Given the description of an element on the screen output the (x, y) to click on. 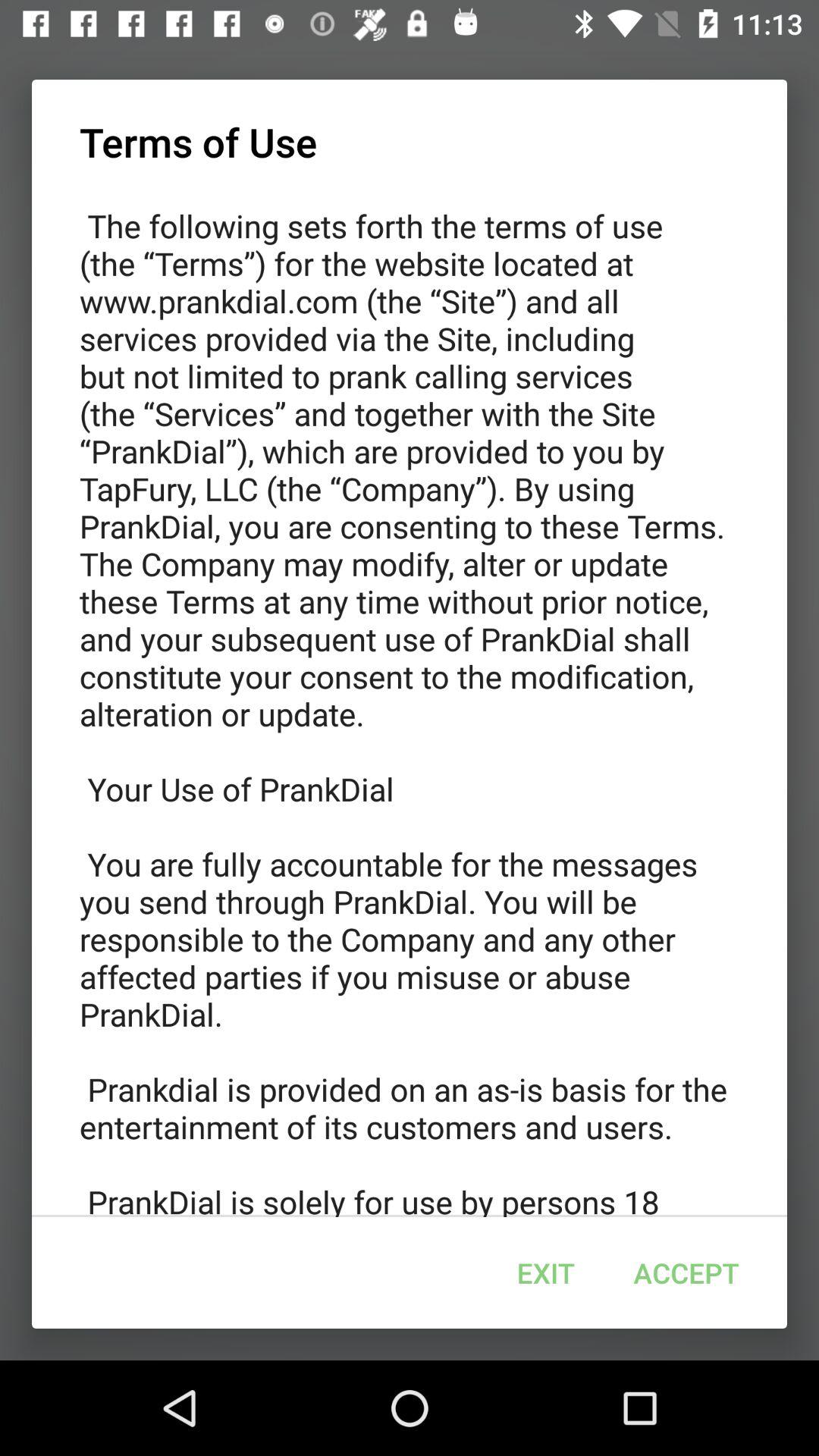
swipe until accept item (686, 1272)
